Given the description of an element on the screen output the (x, y) to click on. 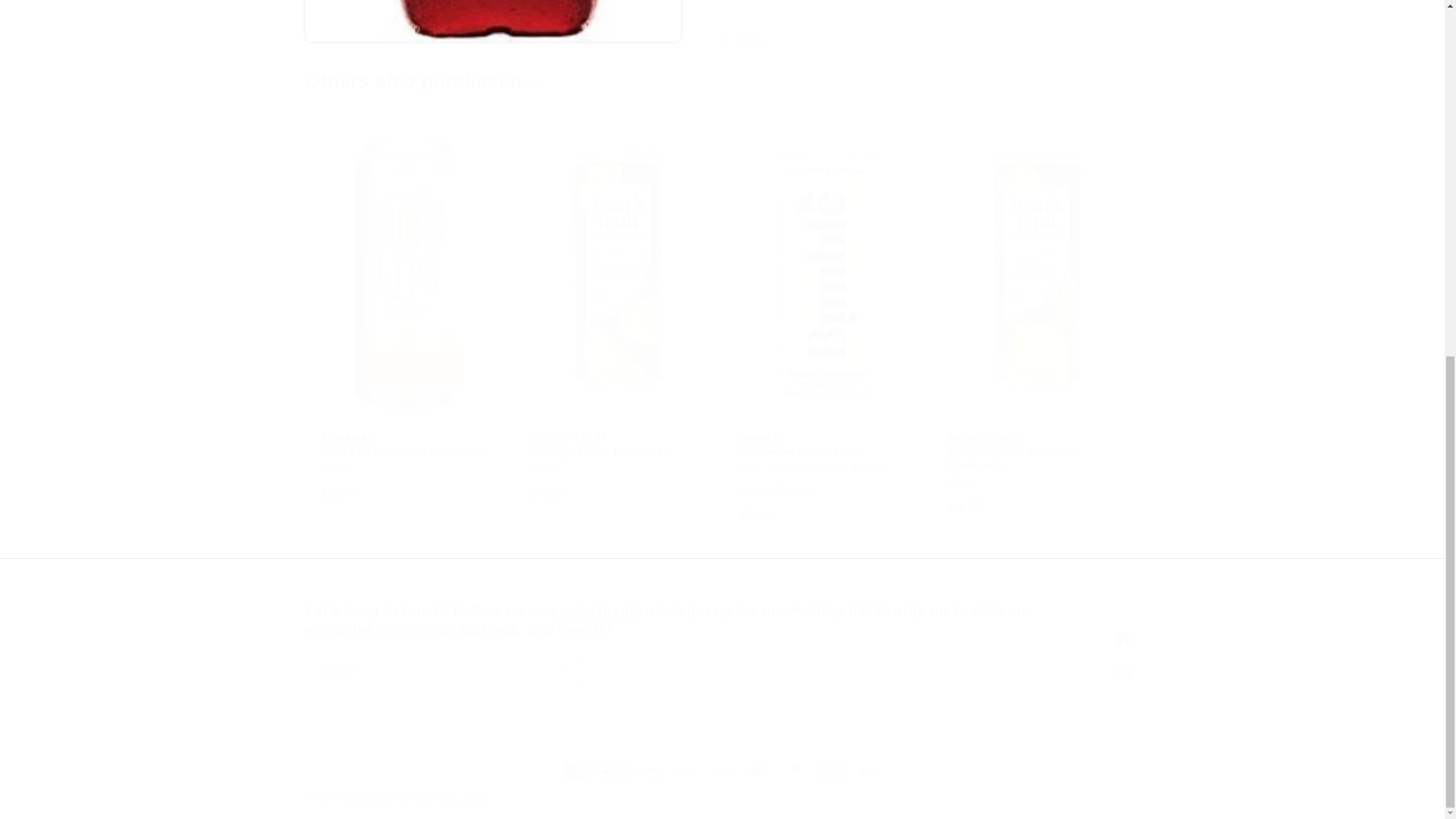
Open media 1 in modal (491, 13)
